Given the description of an element on the screen output the (x, y) to click on. 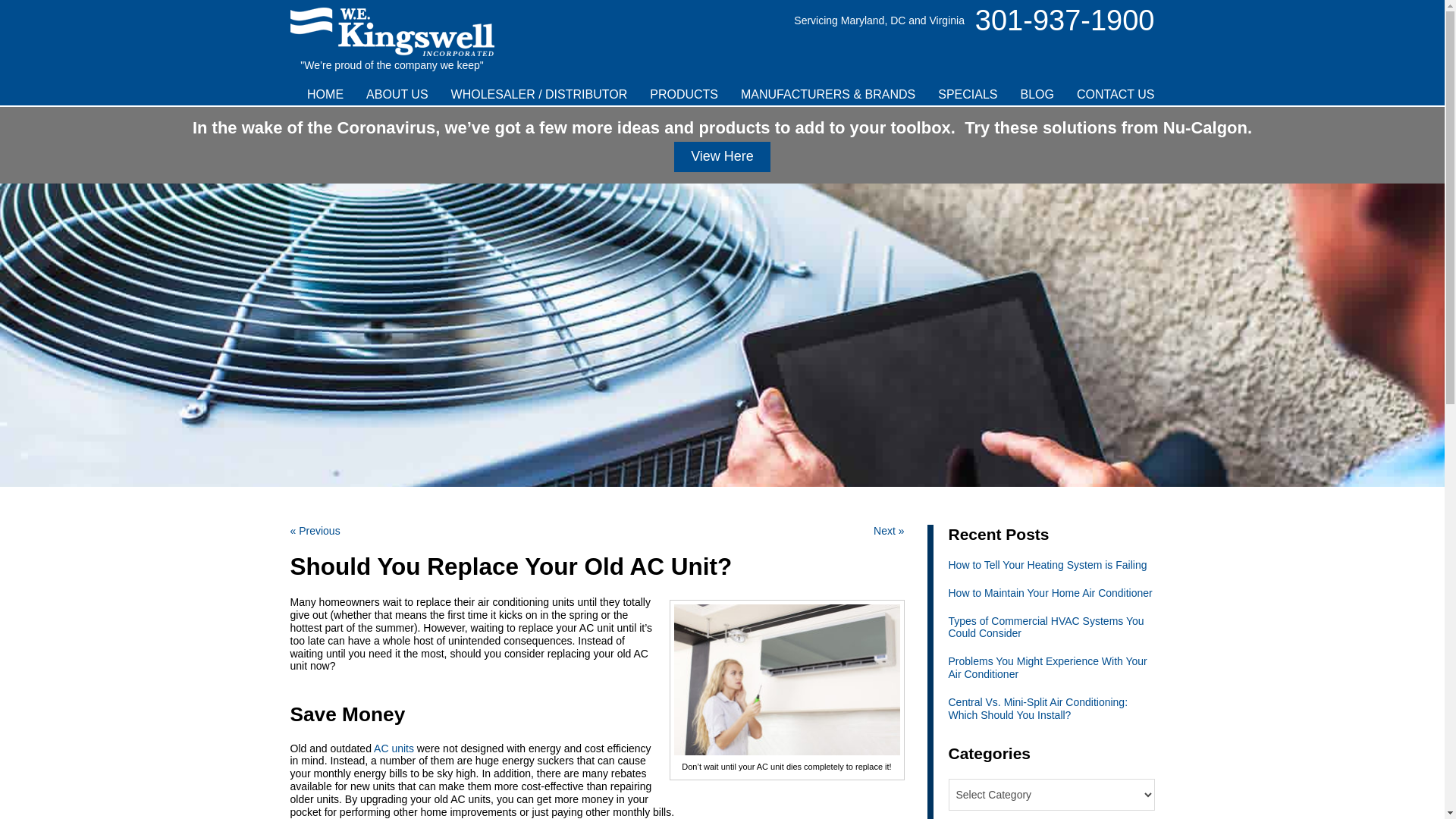
W.E. Kingswell, Inc (391, 28)
PRODUCTS (684, 93)
301-937-1900 (1064, 20)
ABOUT US (397, 93)
HOME (325, 93)
